Given the description of an element on the screen output the (x, y) to click on. 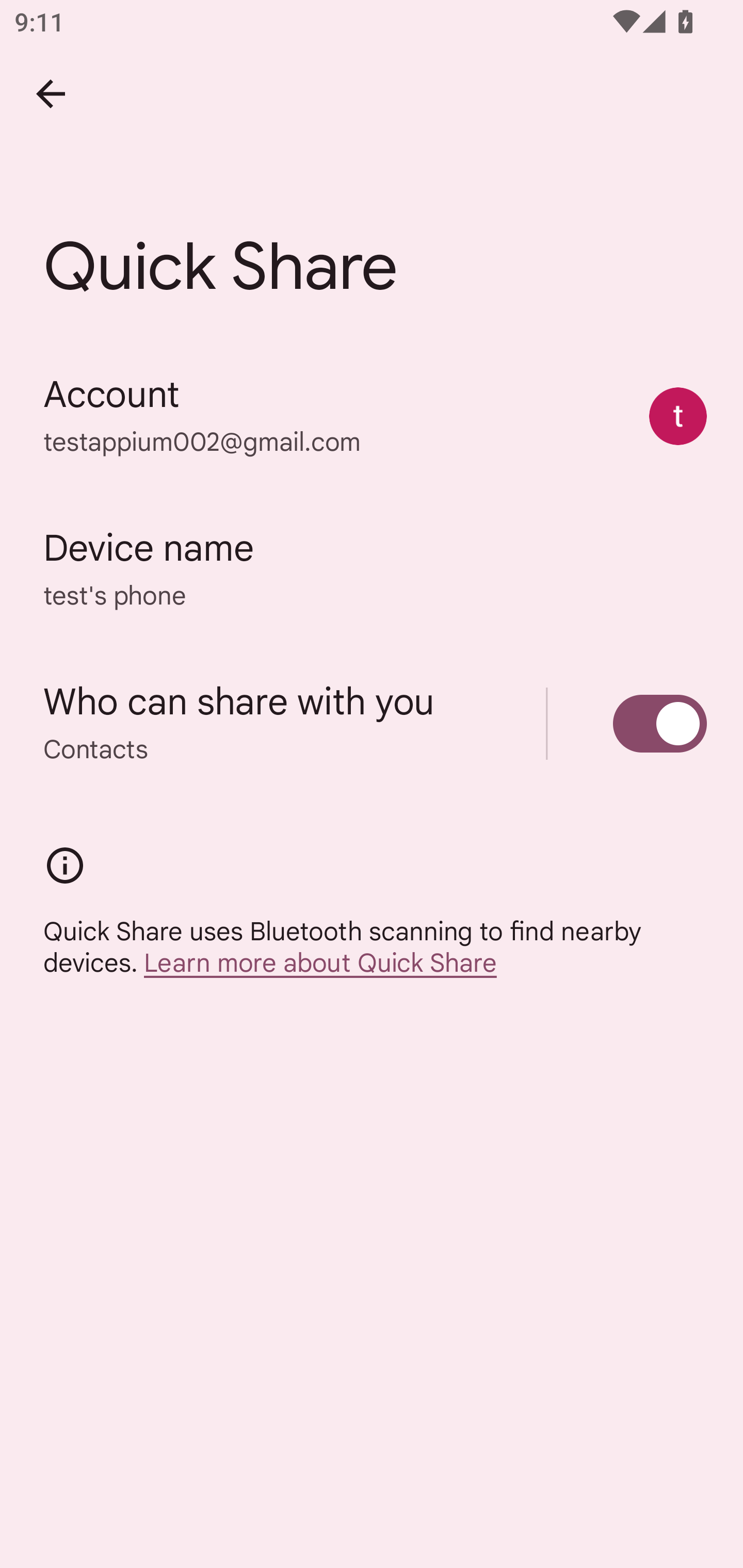
Back (50, 93)
Account testappium002@gmail.com (371, 415)
Device name test's phone (371, 569)
Who can share with you Contacts (371, 723)
